Given the description of an element on the screen output the (x, y) to click on. 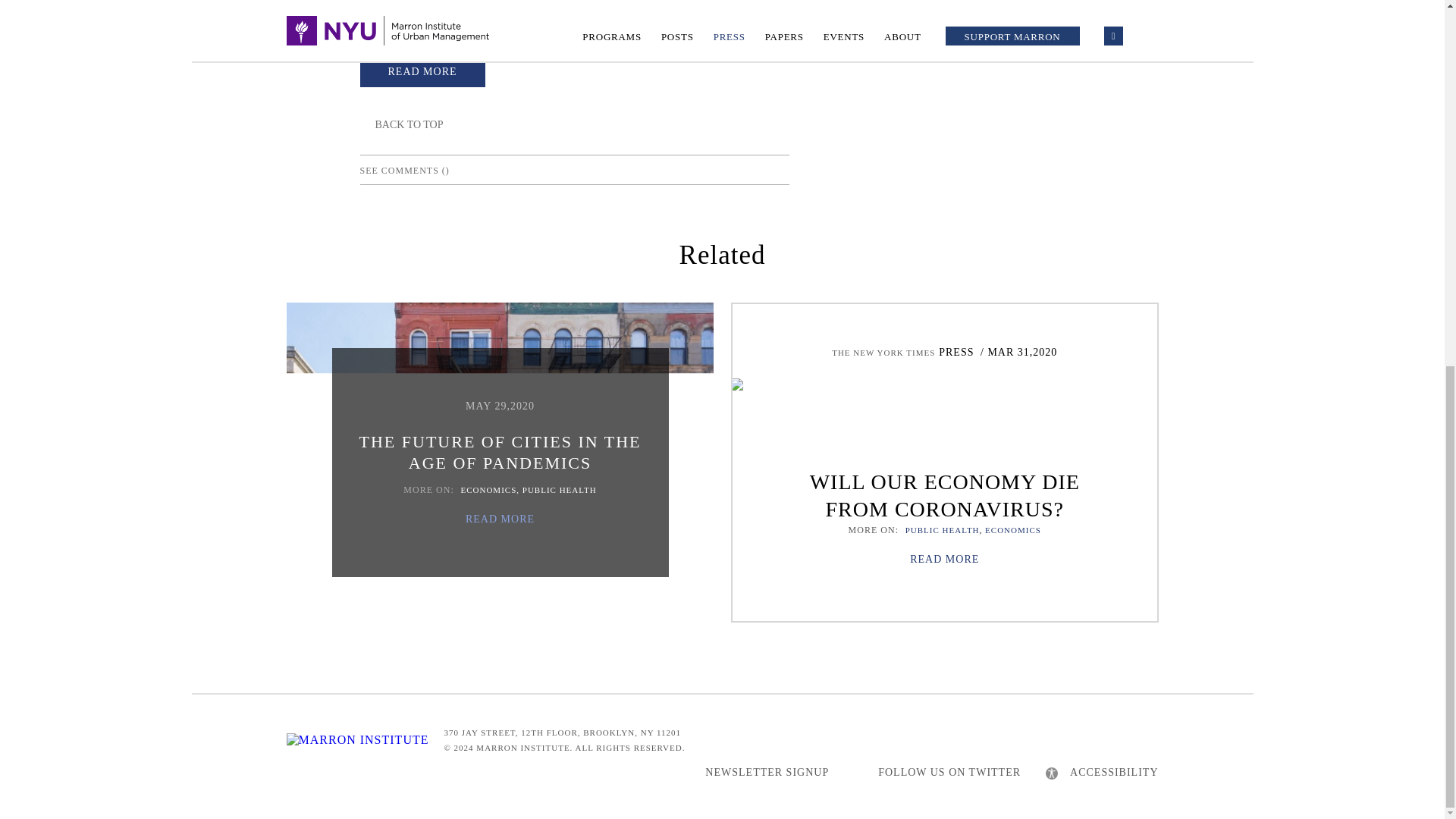
READ MORE (499, 518)
PUBLIC HEALTH (942, 529)
READ MORE (421, 70)
READ MORE (944, 558)
ECONOMICS (488, 489)
PUBLIC HEALTH (559, 489)
ECONOMICS (1013, 529)
BACK TO TOP (400, 124)
